Given the description of an element on the screen output the (x, y) to click on. 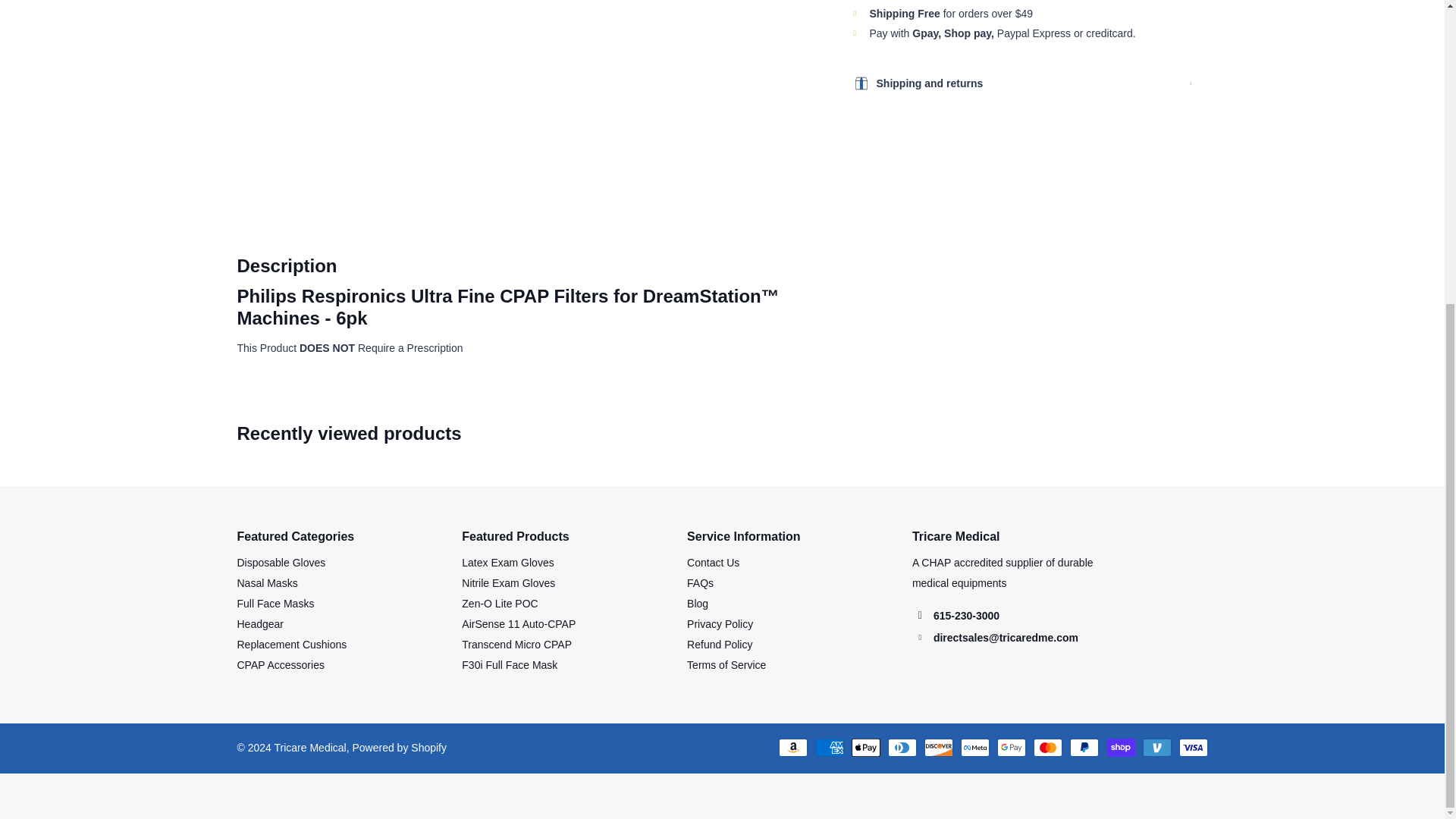
PayPal (1082, 747)
Terms of Service (726, 664)
Google Pay (1010, 747)
Full Face Masks (274, 603)
Shop Pay (1119, 747)
Transcend Micro CPAP (516, 644)
Privacy Policy (719, 623)
Meta Pay (973, 747)
Nitrile Exam Gloves (507, 582)
Replacement Cushions (290, 644)
Refund Policy (719, 644)
Zen-O Lite POC (499, 603)
Disposable Gloves (279, 562)
Diners Club (900, 747)
CPAP Accessories (279, 664)
